Given the description of an element on the screen output the (x, y) to click on. 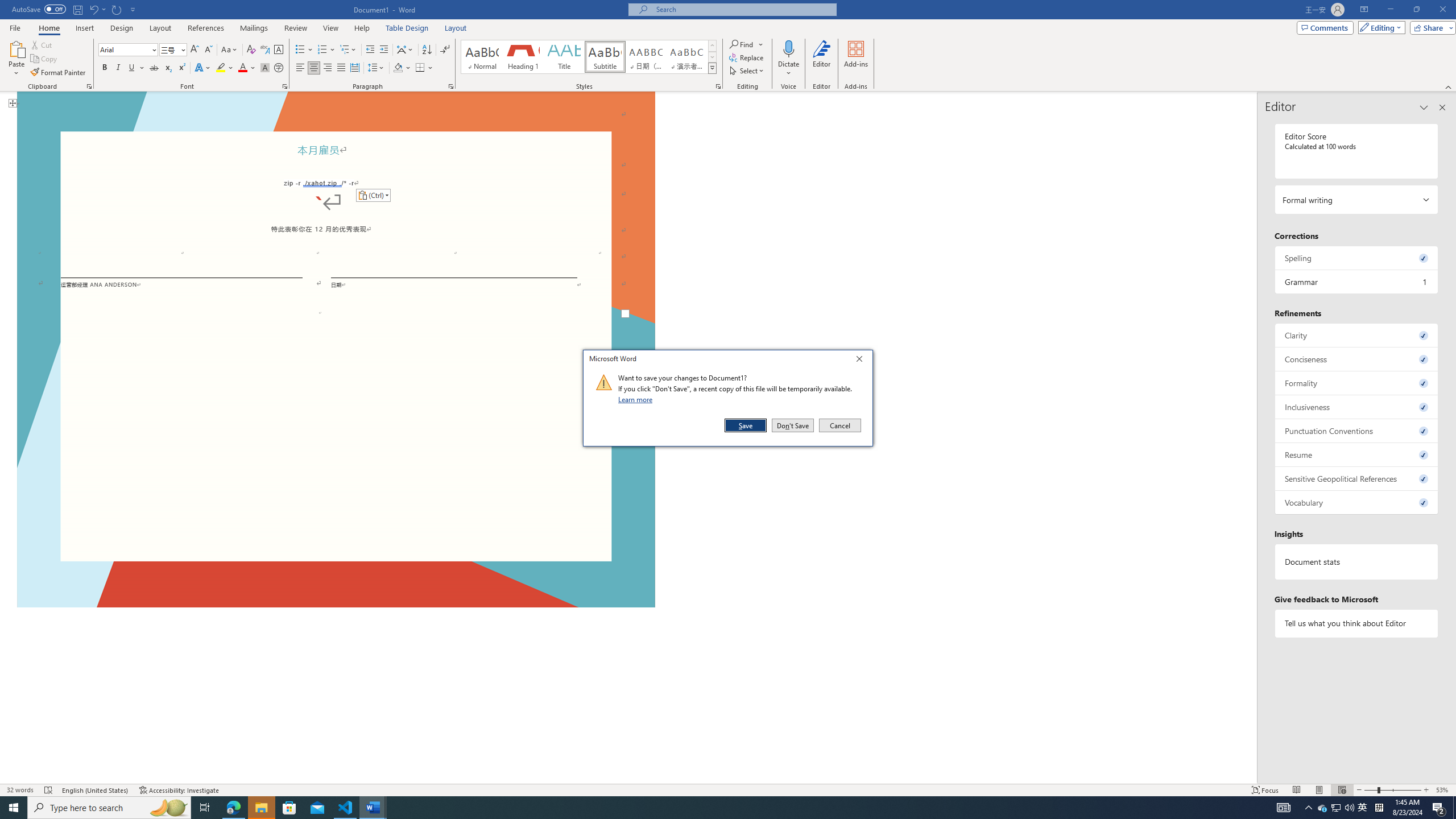
Word - 2 running windows (373, 807)
Conciseness, 0 issues. Press space or enter to review items. (1356, 359)
